Given the description of an element on the screen output the (x, y) to click on. 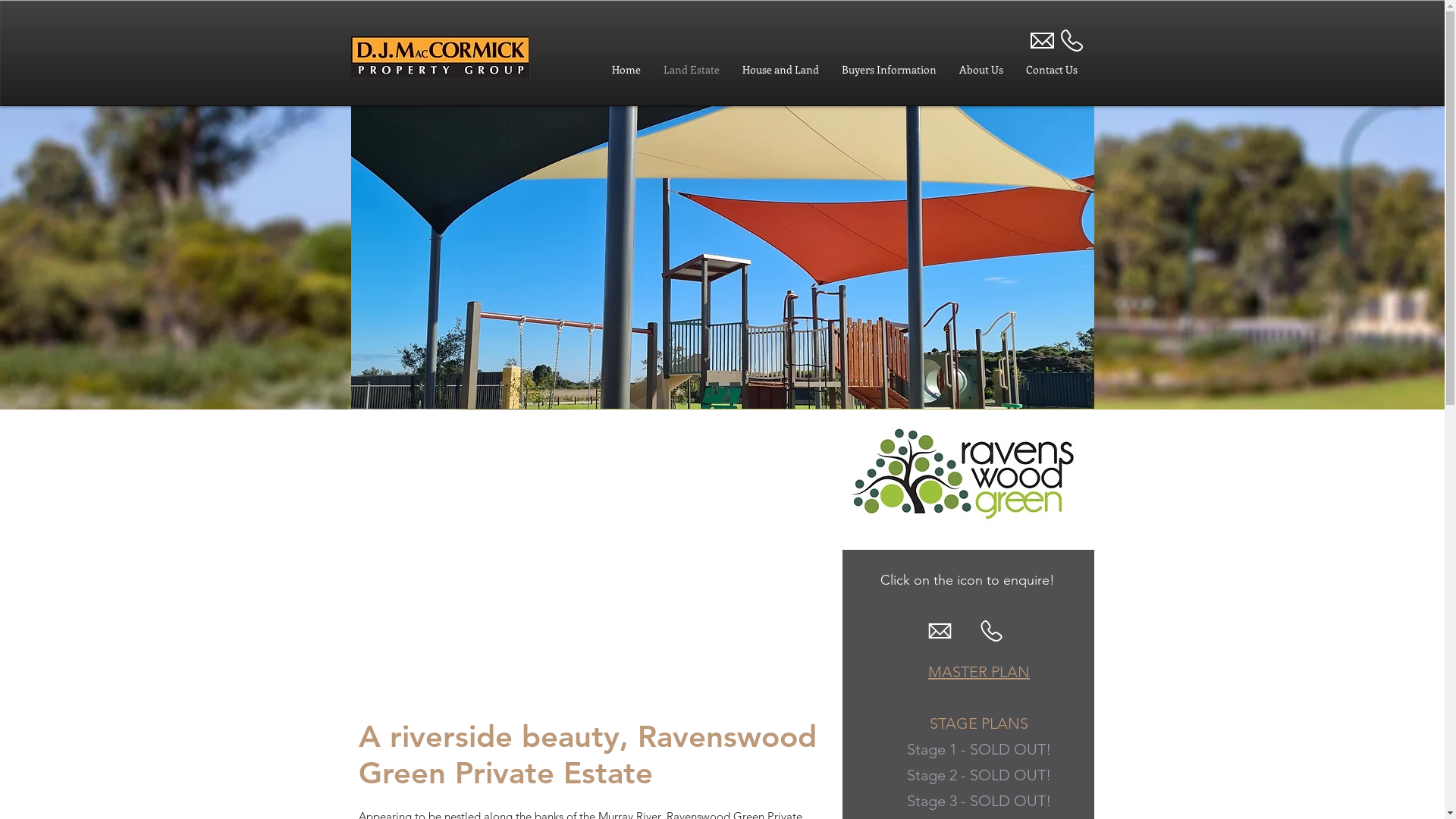
Contact Us Element type: text (1051, 69)
House and Land Element type: text (780, 69)
Stage 2 - SOLD OUT! Element type: text (978, 774)
Stage 3 - SOLD OUT! Element type: text (978, 800)
Land Estate Element type: text (691, 69)
Buyers Information Element type: text (888, 69)
Home Element type: text (626, 69)
Stage 1 - SOLD OUT! Element type: text (978, 749)
MASTER PLAN Element type: text (978, 671)
About Us Element type: text (980, 69)
